Given the description of an element on the screen output the (x, y) to click on. 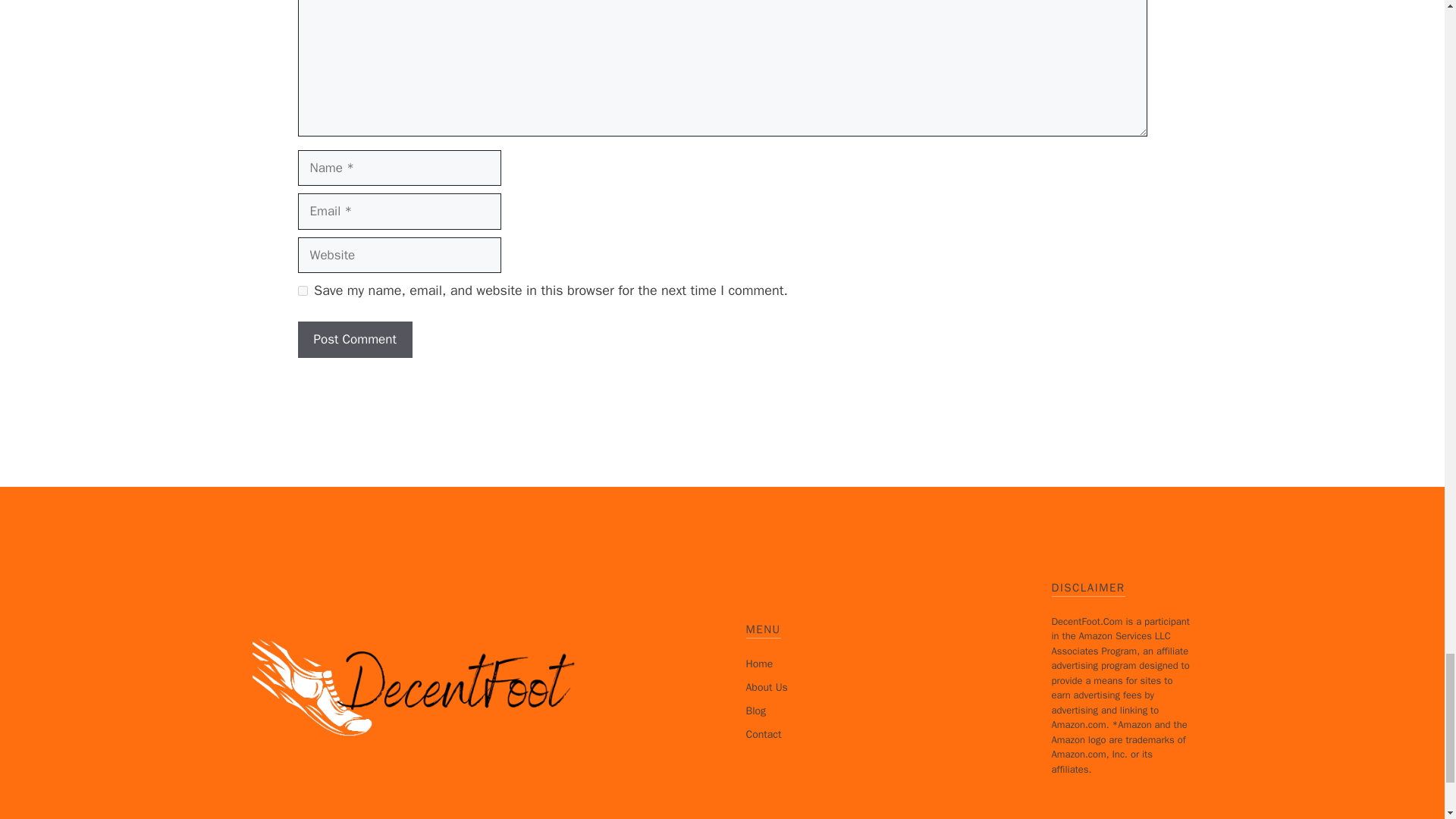
Home (759, 663)
Post Comment (354, 339)
Post Comment (354, 339)
yes (302, 290)
